Given the description of an element on the screen output the (x, y) to click on. 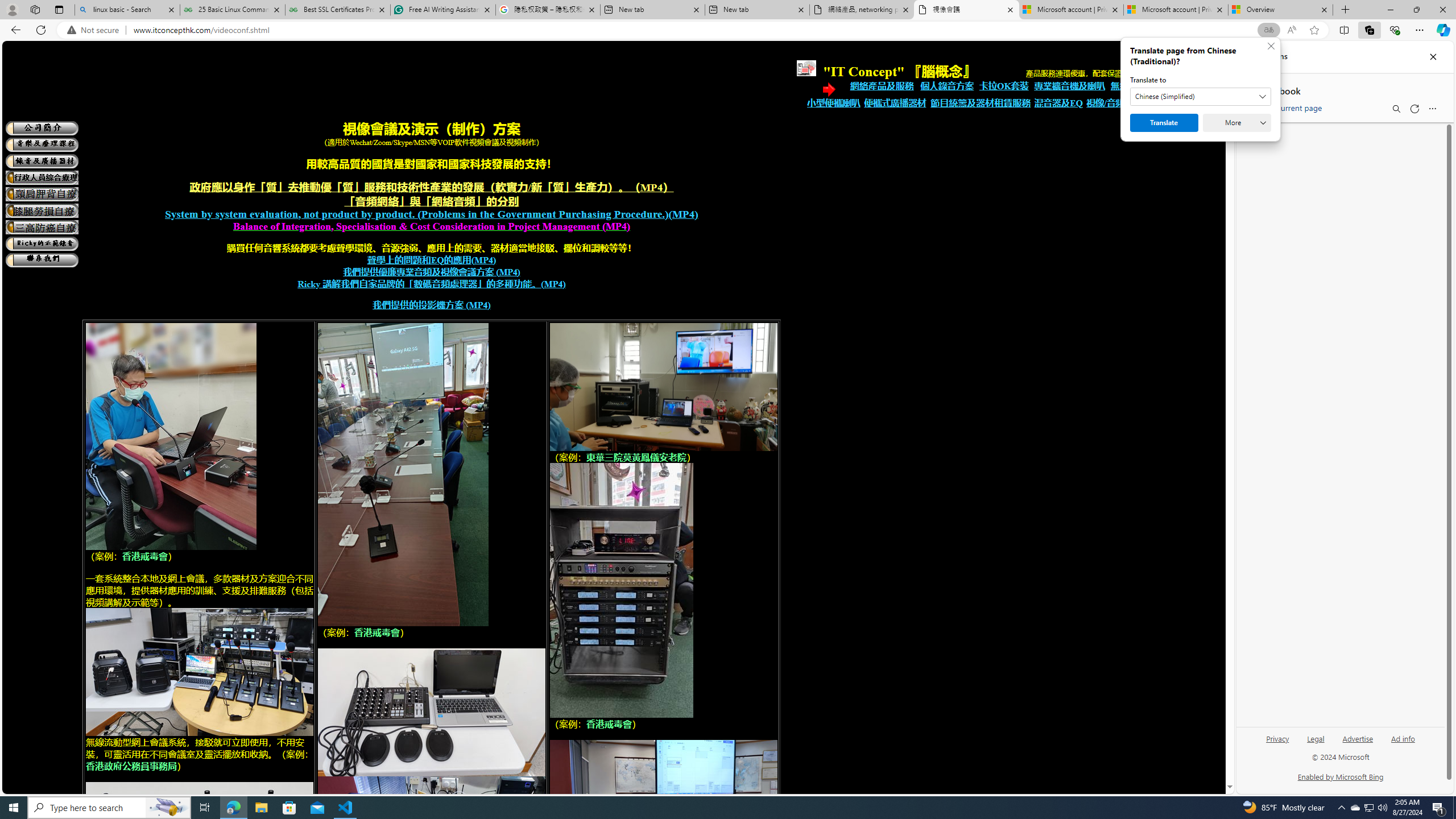
meeting equipment (621, 589)
More (1236, 122)
